Given the description of an element on the screen output the (x, y) to click on. 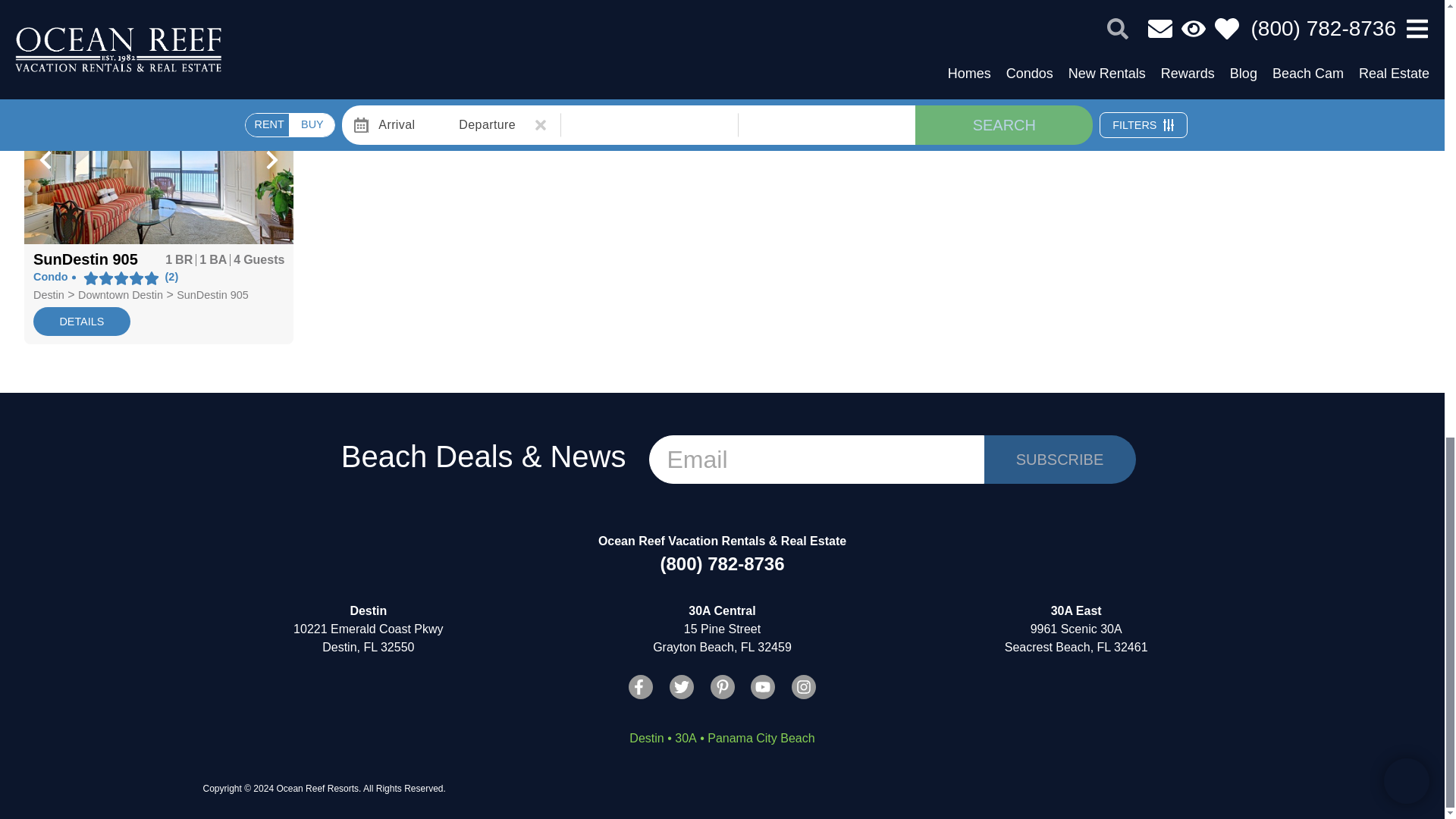
facebook (640, 686)
twitter (681, 686)
pinterest (721, 686)
Sort By Random Default (1296, 43)
instagram (803, 686)
youtube (762, 686)
